Given the description of an element on the screen output the (x, y) to click on. 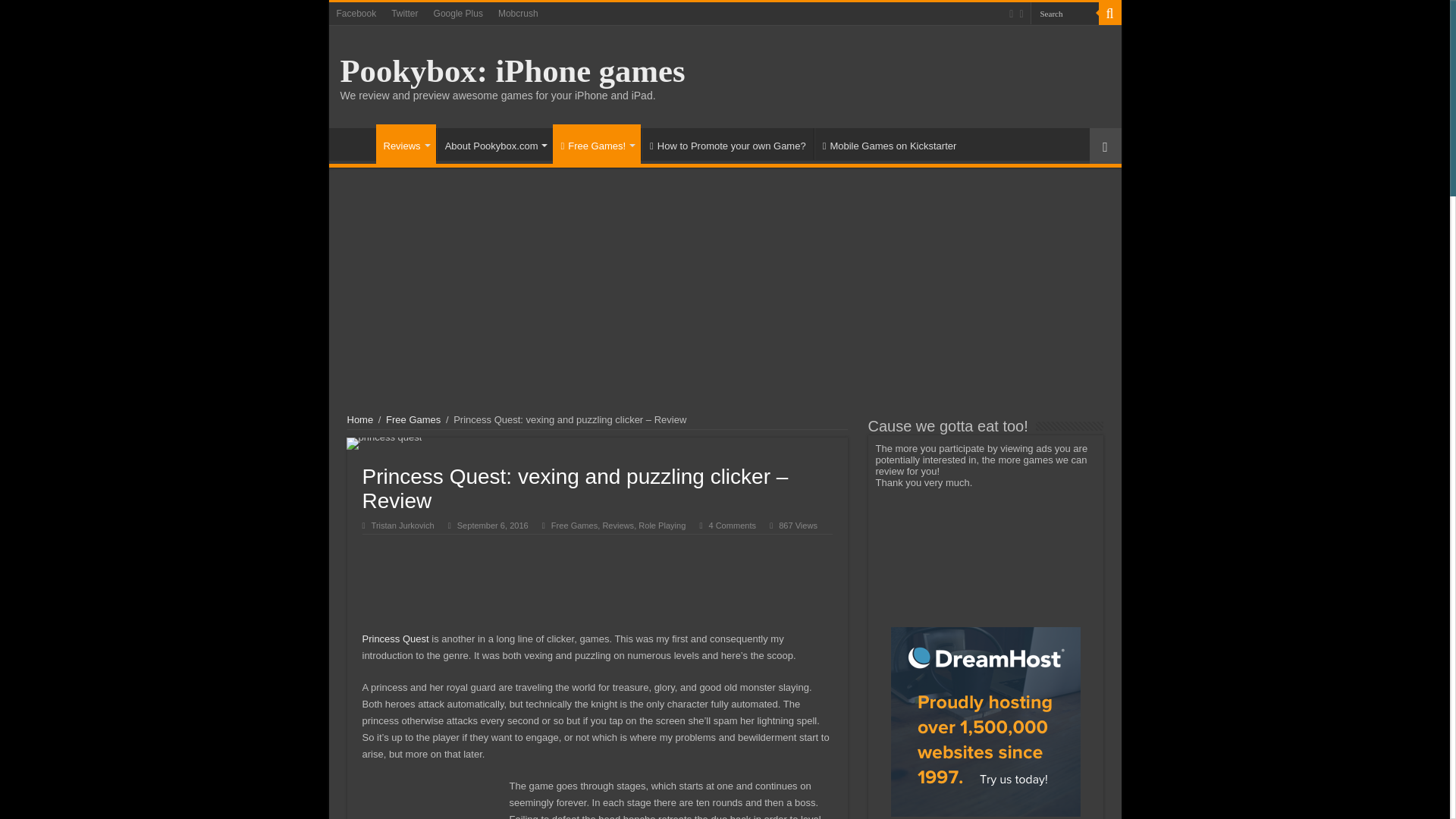
Search (1063, 13)
Google Plus (458, 13)
Facebook (356, 13)
Reviews (405, 143)
Pookybox: iPhone games (511, 70)
Mobcrush (518, 13)
Twitter (404, 13)
Home (355, 143)
Search (1109, 13)
Search (1063, 13)
